Given the description of an element on the screen output the (x, y) to click on. 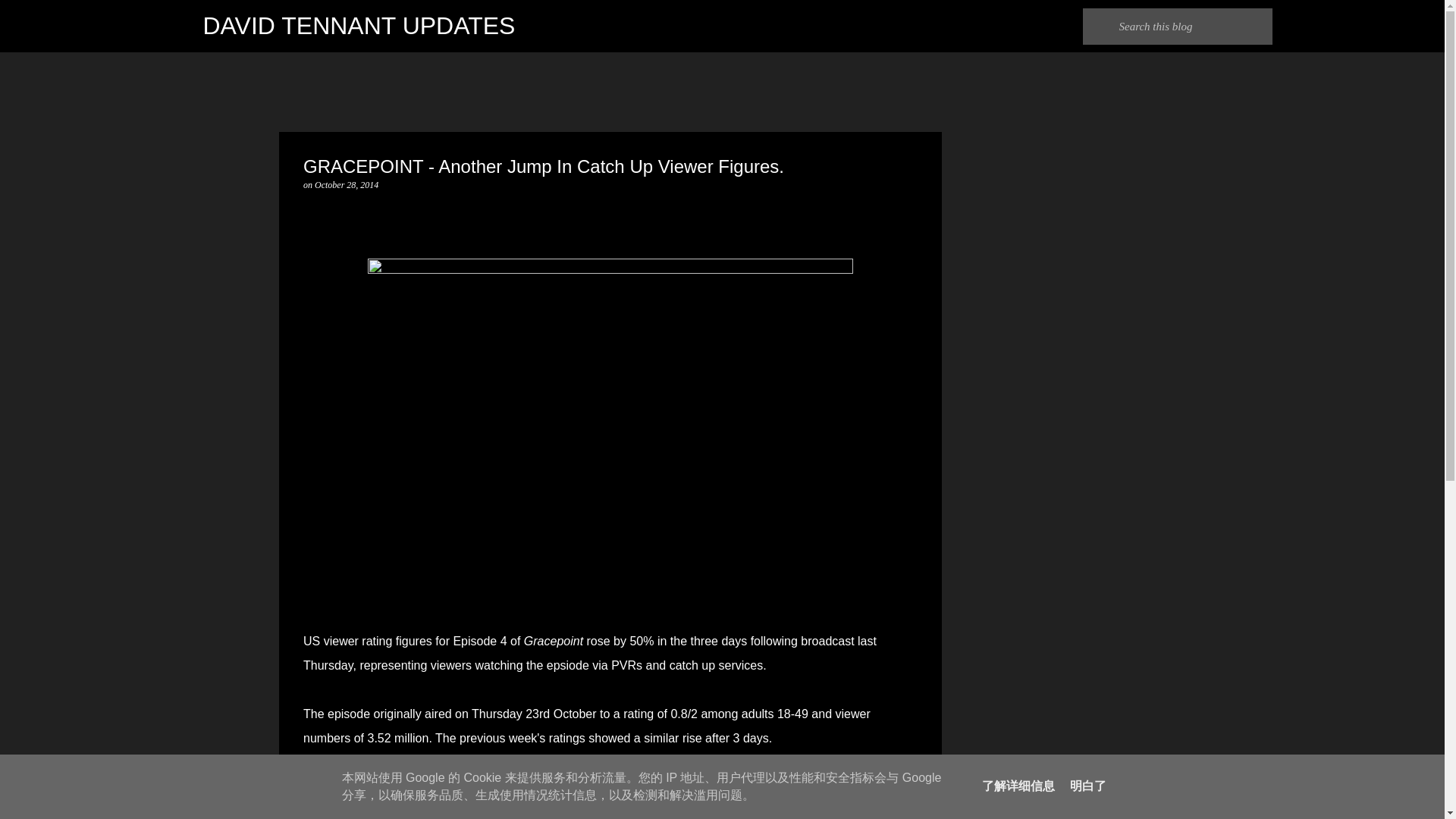
October 28, 2014 (346, 184)
permanent link (346, 184)
DAVID TENNANT UPDATES (359, 25)
